Given the description of an element on the screen output the (x, y) to click on. 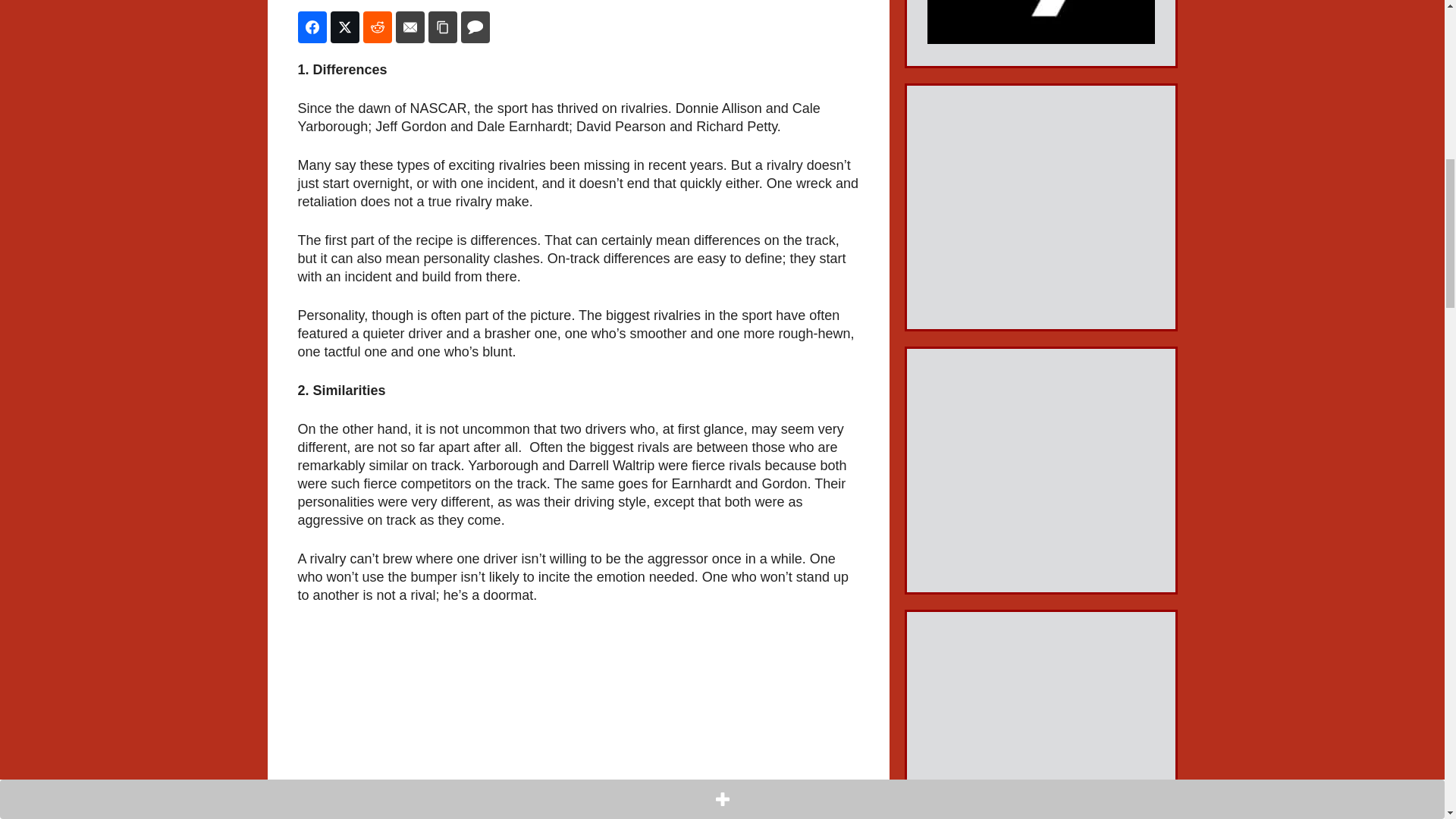
Share on Twitter (344, 27)
Share on Email (410, 27)
Share on Comments (475, 27)
Share on Copy Link (442, 27)
Kyle Busch Vs. Brad Keselowski (578, 721)
Share on Facebook (311, 27)
Share on Reddit (376, 27)
